Given the description of an element on the screen output the (x, y) to click on. 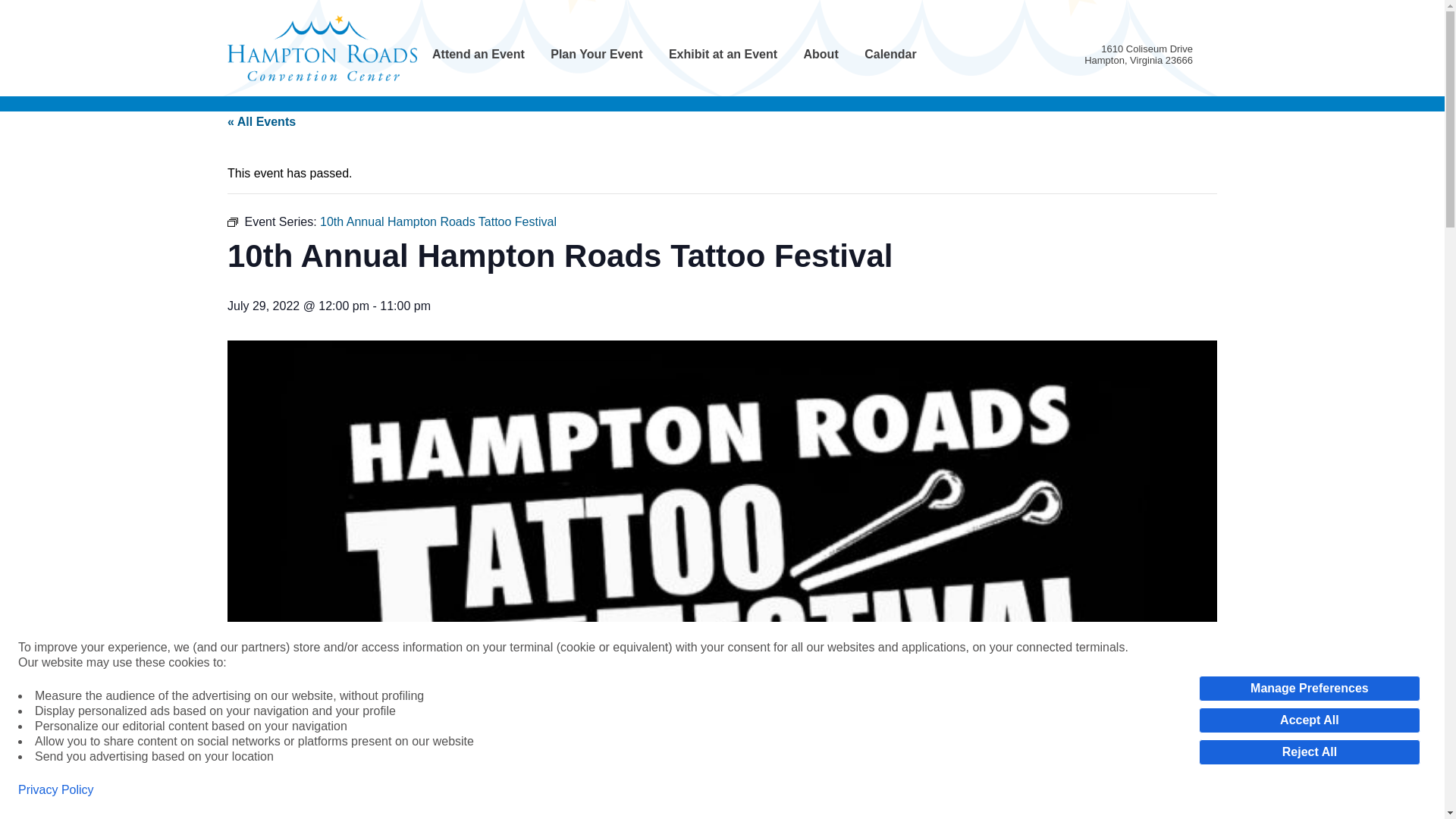
Plan Your Event (596, 54)
10th Annual Hampton Roads Tattoo Festival (438, 221)
Calendar (889, 54)
Event Series (232, 221)
Reject All (1309, 751)
About (820, 54)
Manage Preferences (1309, 688)
Attend an Event (478, 54)
Accept All (1309, 720)
Privacy Policy (55, 789)
Exhibit at an Event (722, 54)
